Given the description of an element on the screen output the (x, y) to click on. 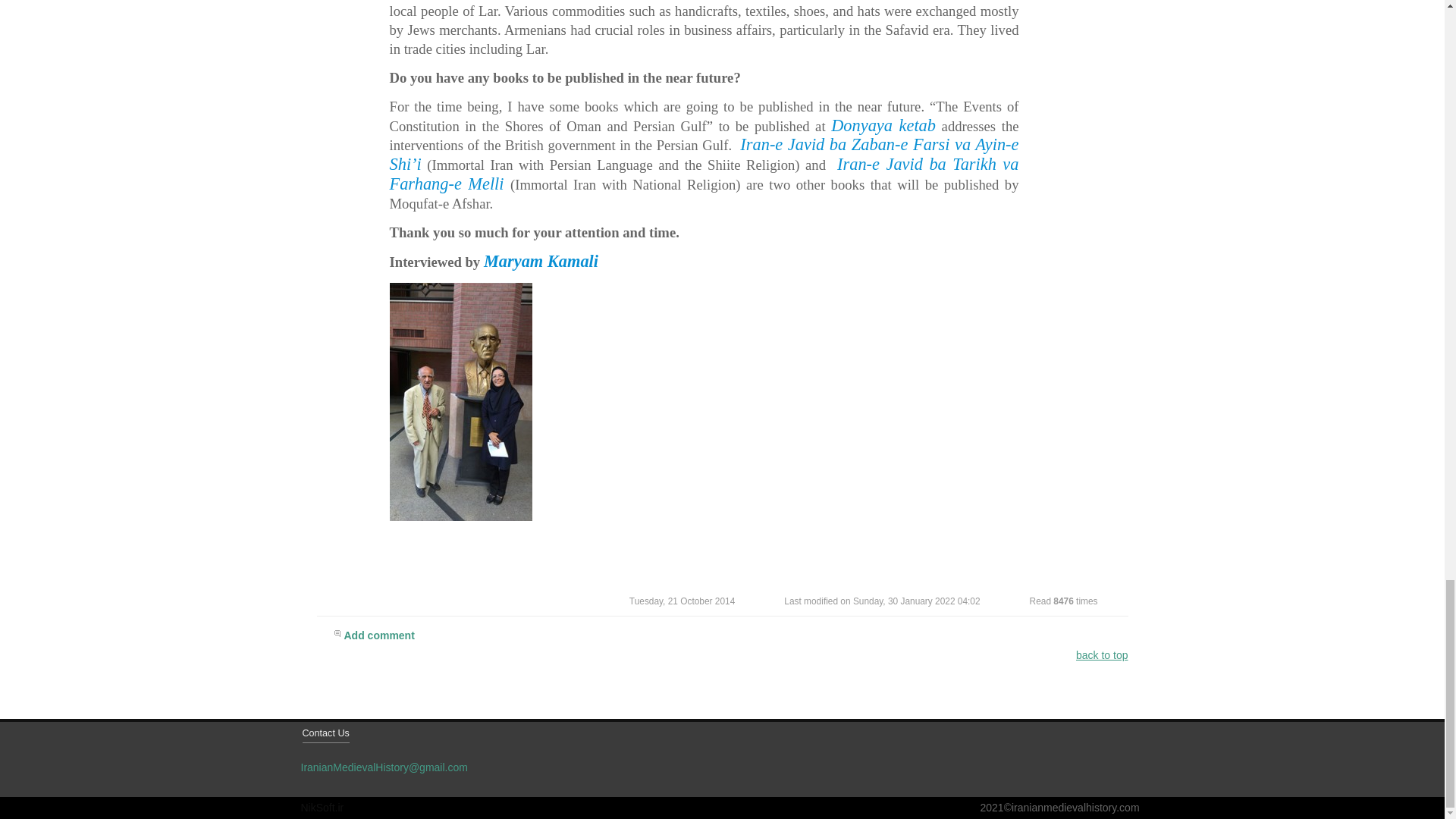
back to top (1101, 654)
Add comment (730, 637)
NikSoft.ir (321, 807)
